Given the description of an element on the screen output the (x, y) to click on. 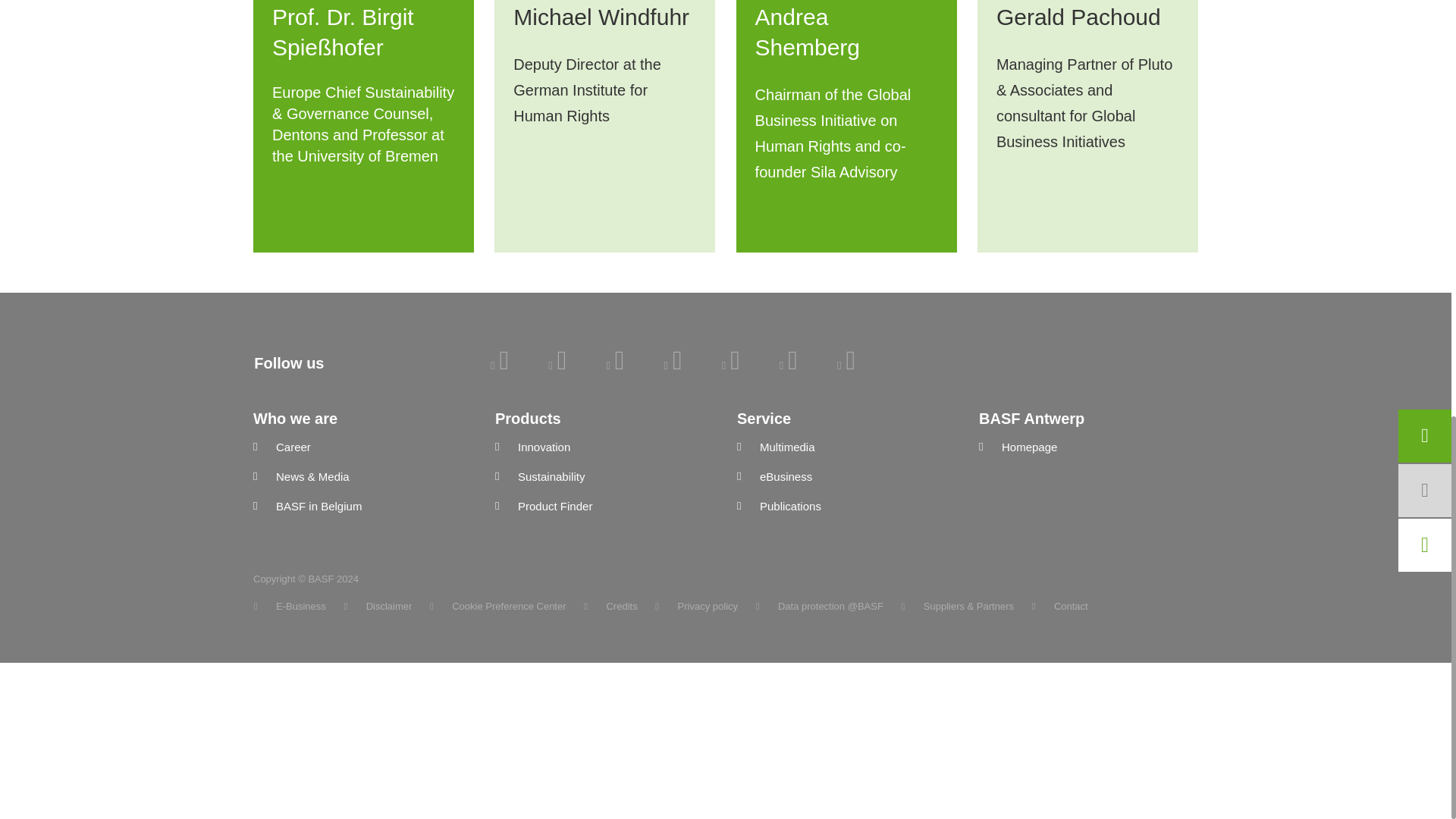
Career (362, 447)
BASF in Belgium (362, 506)
Join us on LinkedIn (499, 364)
